Given the description of an element on the screen output the (x, y) to click on. 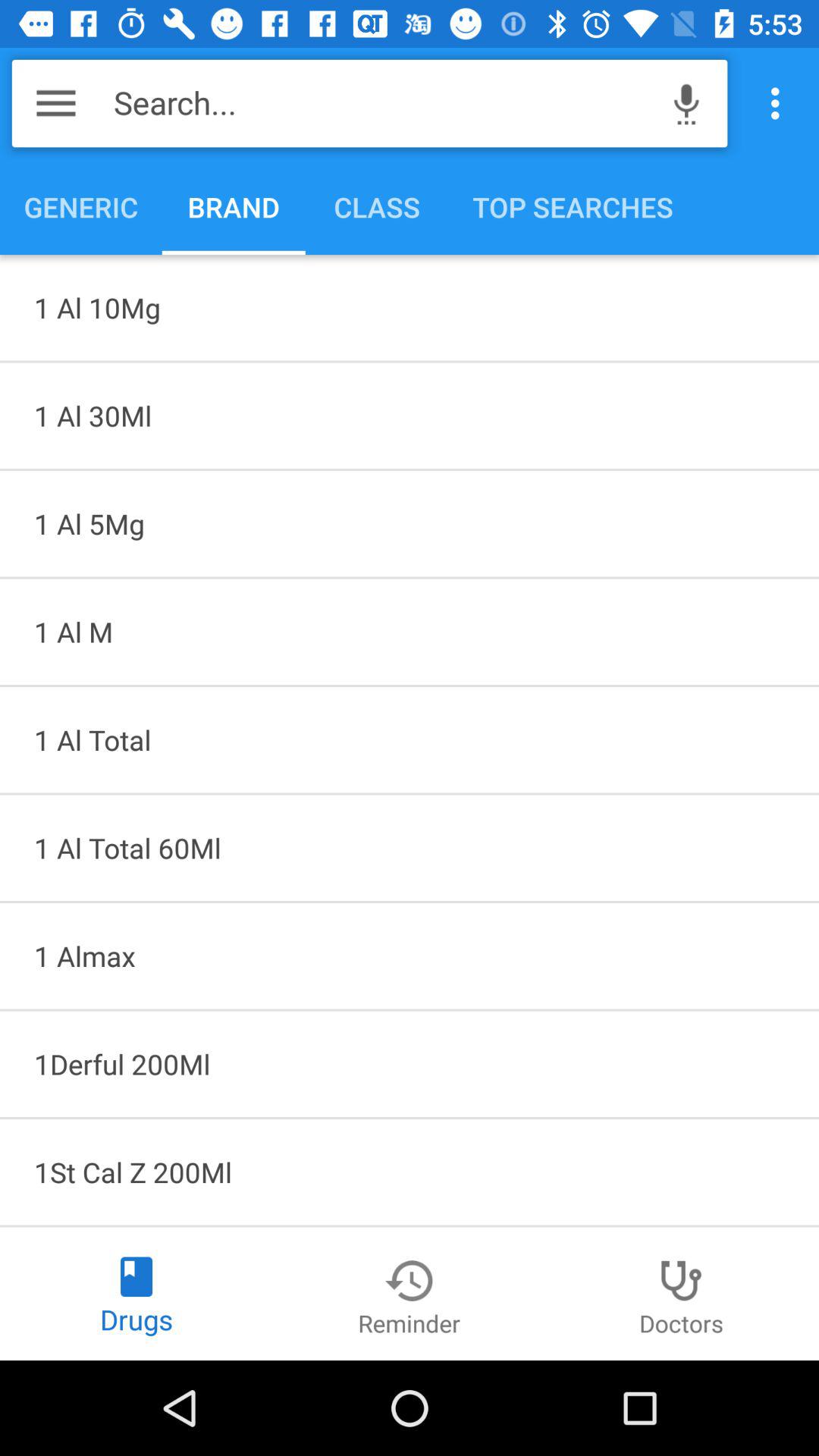
launch the item to the left of the search... (55, 103)
